Given the description of an element on the screen output the (x, y) to click on. 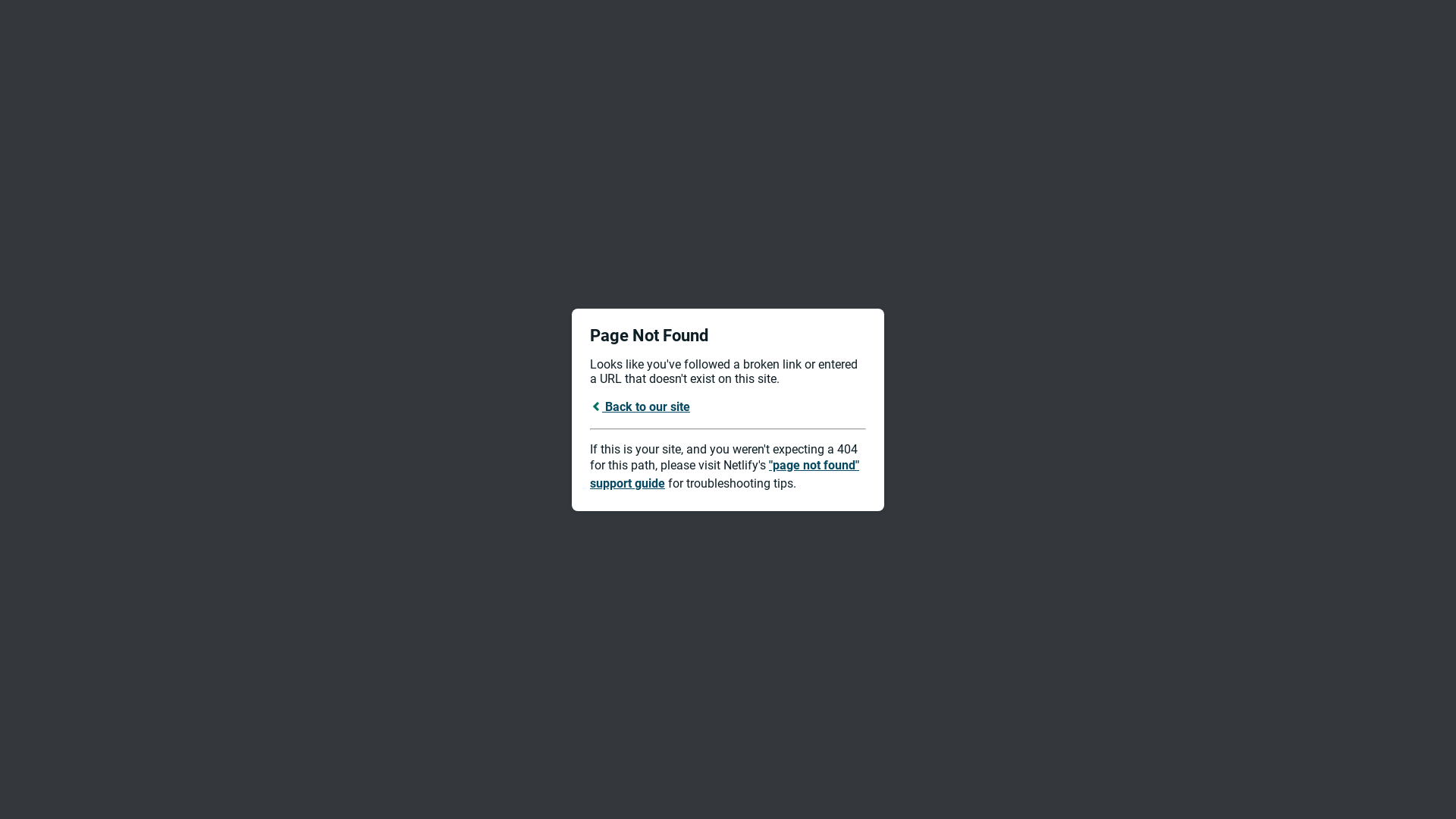
"page not found" support guide Element type: text (724, 474)
Back to our site Element type: text (639, 405)
